Given the description of an element on the screen output the (x, y) to click on. 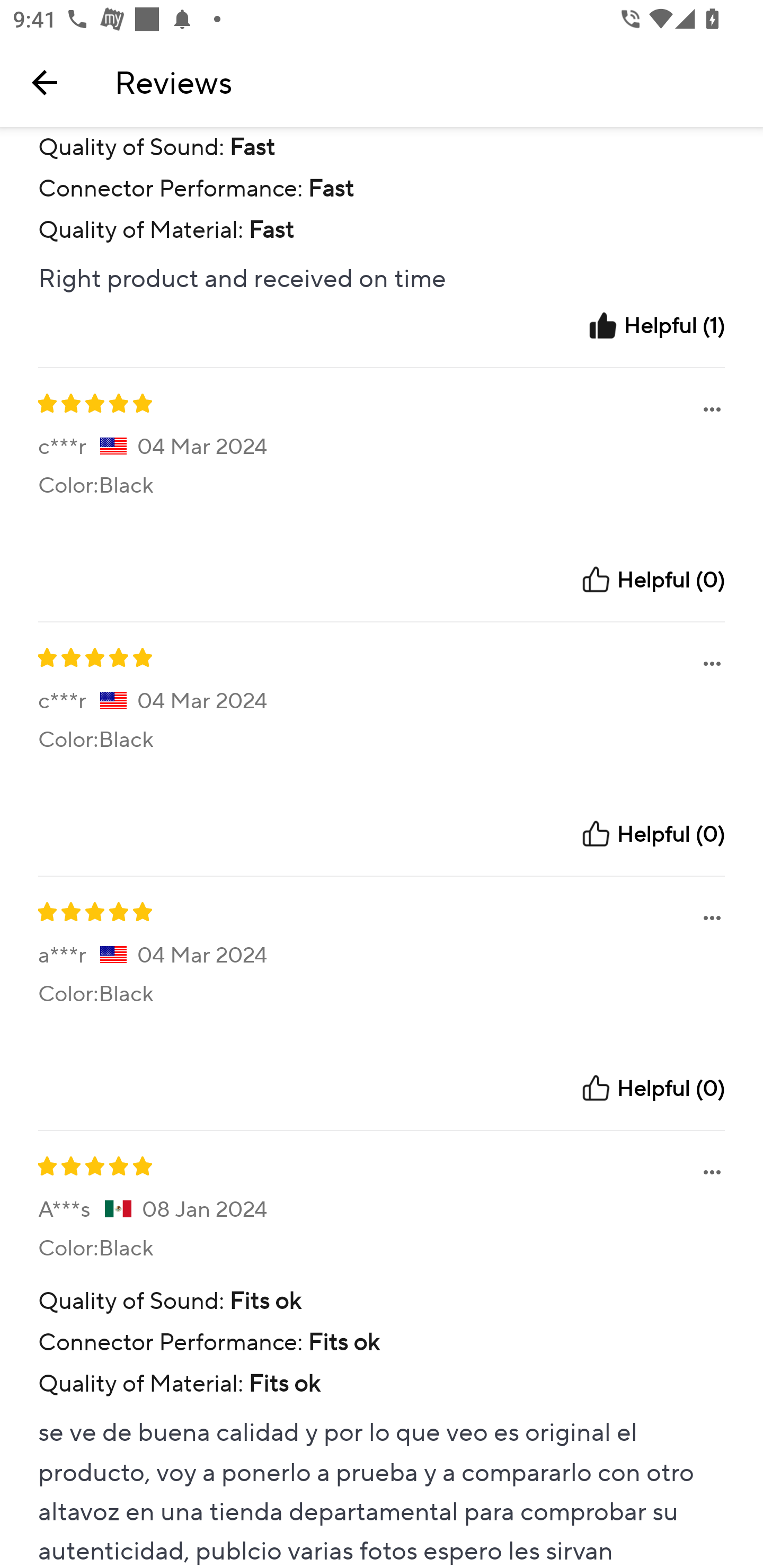
Navigate up (44, 82)
Helpful (1) (655, 324)
Helpful (0) (651, 578)
Helpful (0) (651, 833)
Helpful (0) (651, 1087)
